Given the description of an element on the screen output the (x, y) to click on. 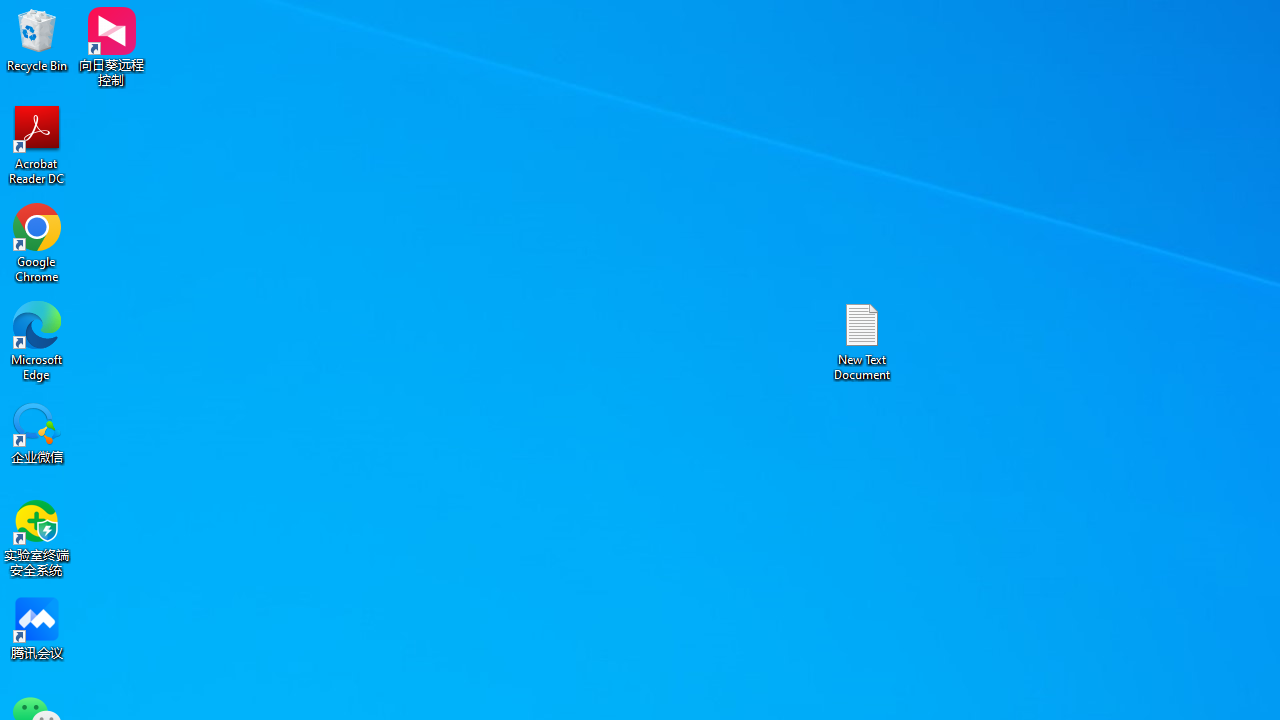
Microsoft Edge (37, 340)
Google Chrome (37, 242)
Acrobat Reader DC (37, 144)
Recycle Bin (37, 39)
New Text Document (861, 340)
